Given the description of an element on the screen output the (x, y) to click on. 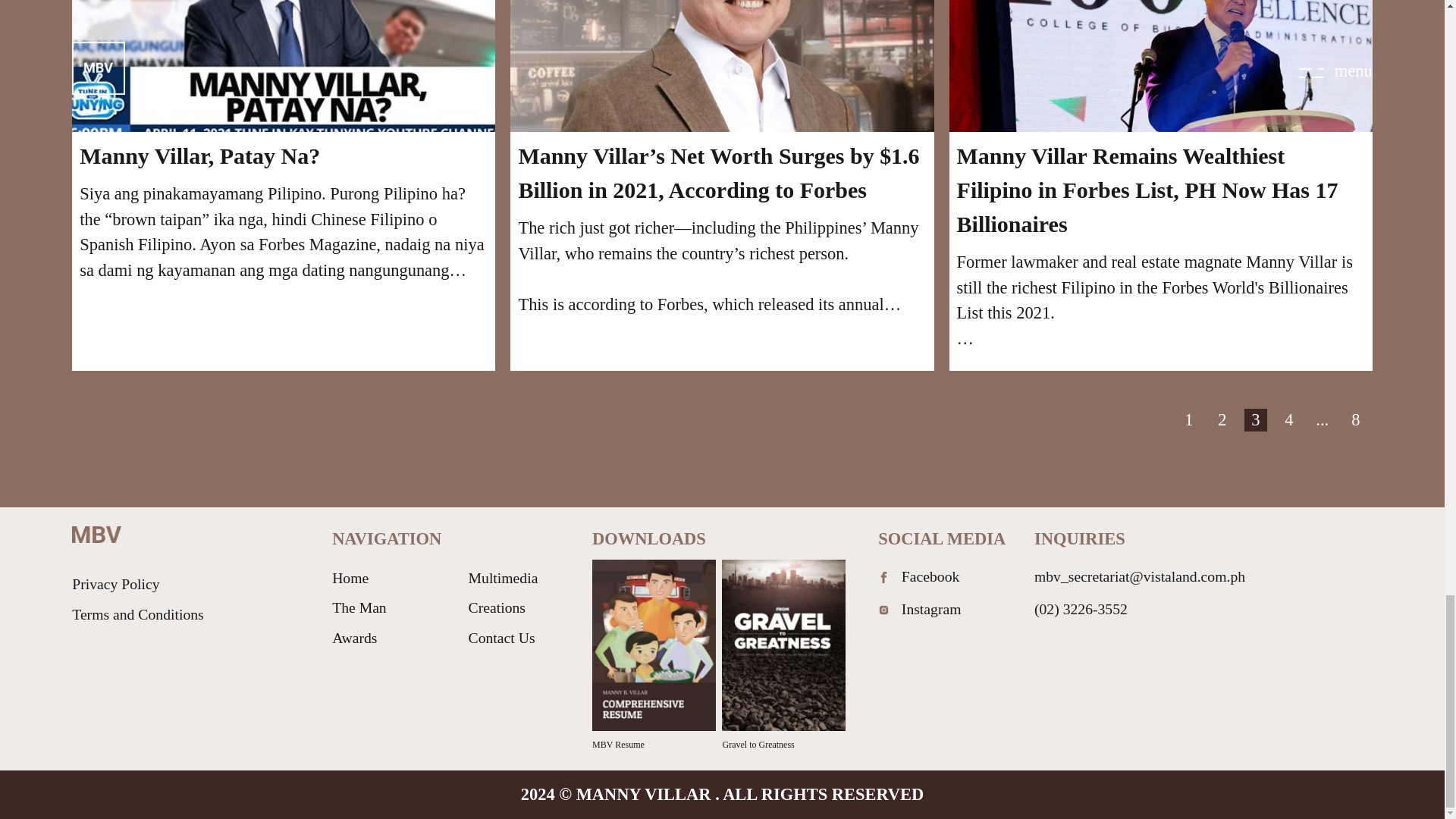
Facebook Icon (883, 577)
SocMed Icon Instagram (883, 609)
1 (1188, 419)
